Given the description of an element on the screen output the (x, y) to click on. 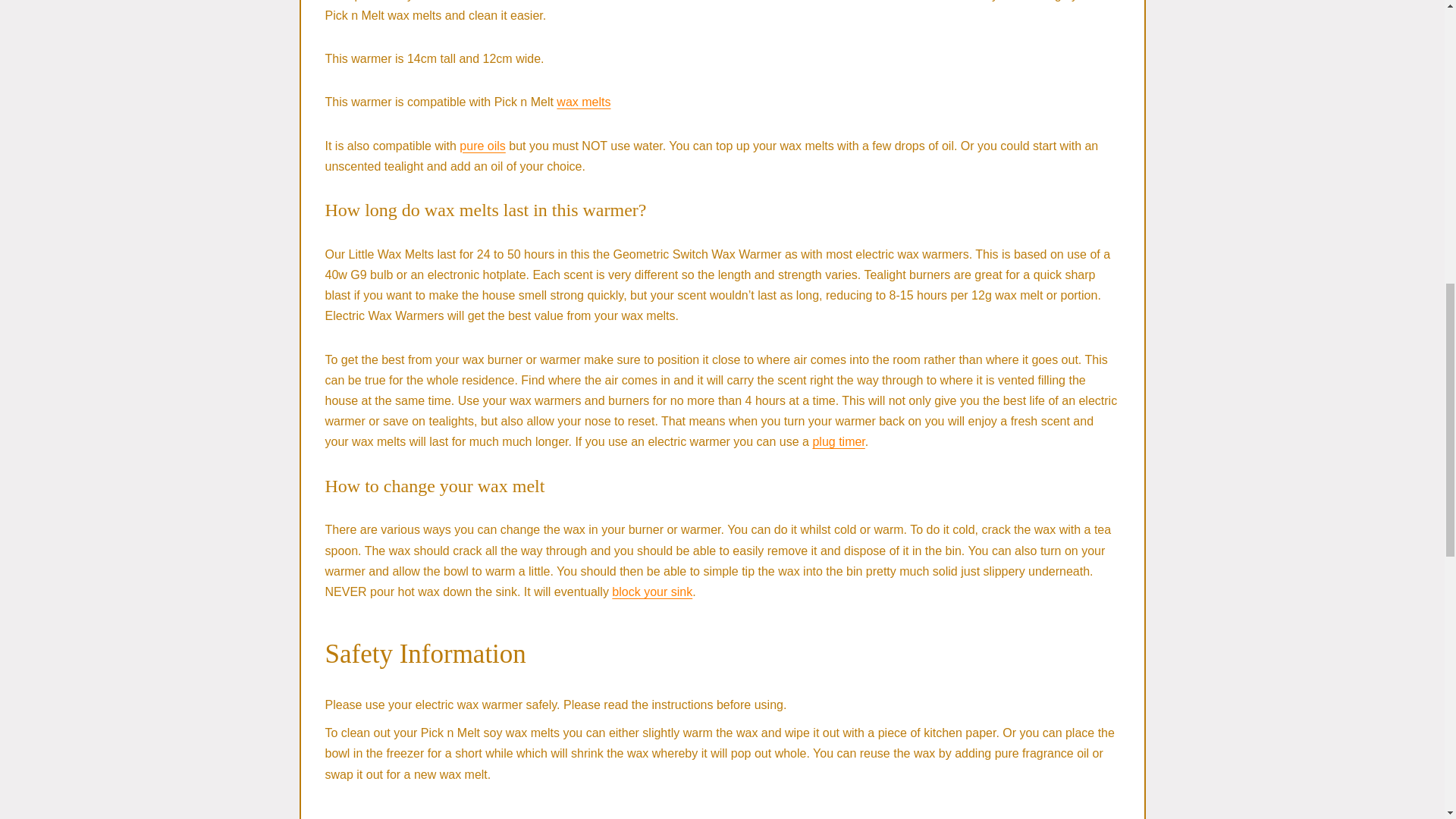
wax melts (583, 101)
pure oils (482, 145)
plug timer (838, 440)
block your sink (652, 591)
